Given the description of an element on the screen output the (x, y) to click on. 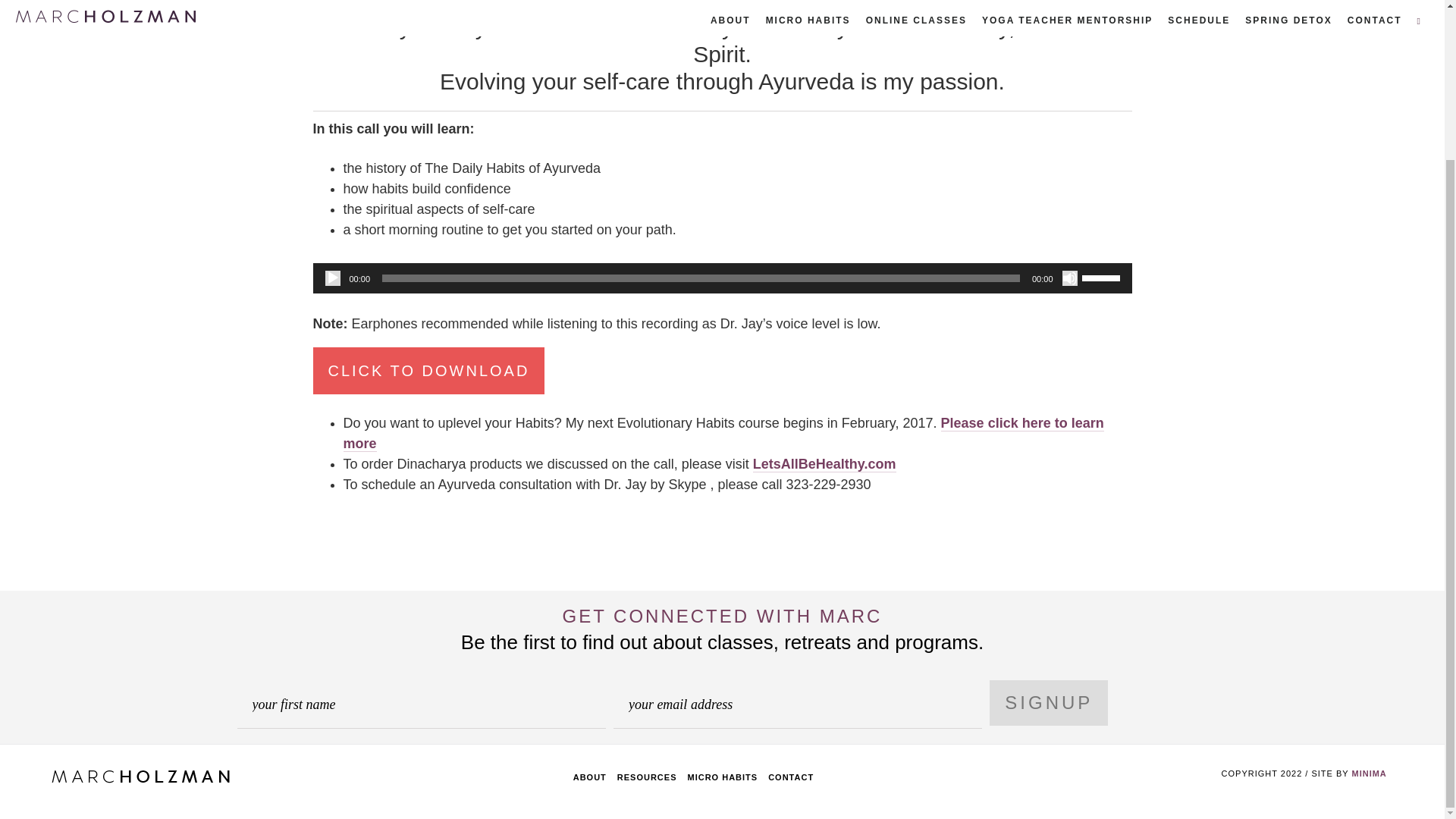
LetsAllBeHealthy.com (824, 464)
Play (331, 278)
CONTACT (790, 777)
MICRO HABITS (722, 777)
RESOURCES (647, 777)
SIGNUP (1049, 702)
MINIMA (1368, 773)
Please click here to learn more (722, 433)
ABOUT (590, 777)
Mute (1069, 278)
CLICK TO DOWNLOAD (428, 370)
